Given the description of an element on the screen output the (x, y) to click on. 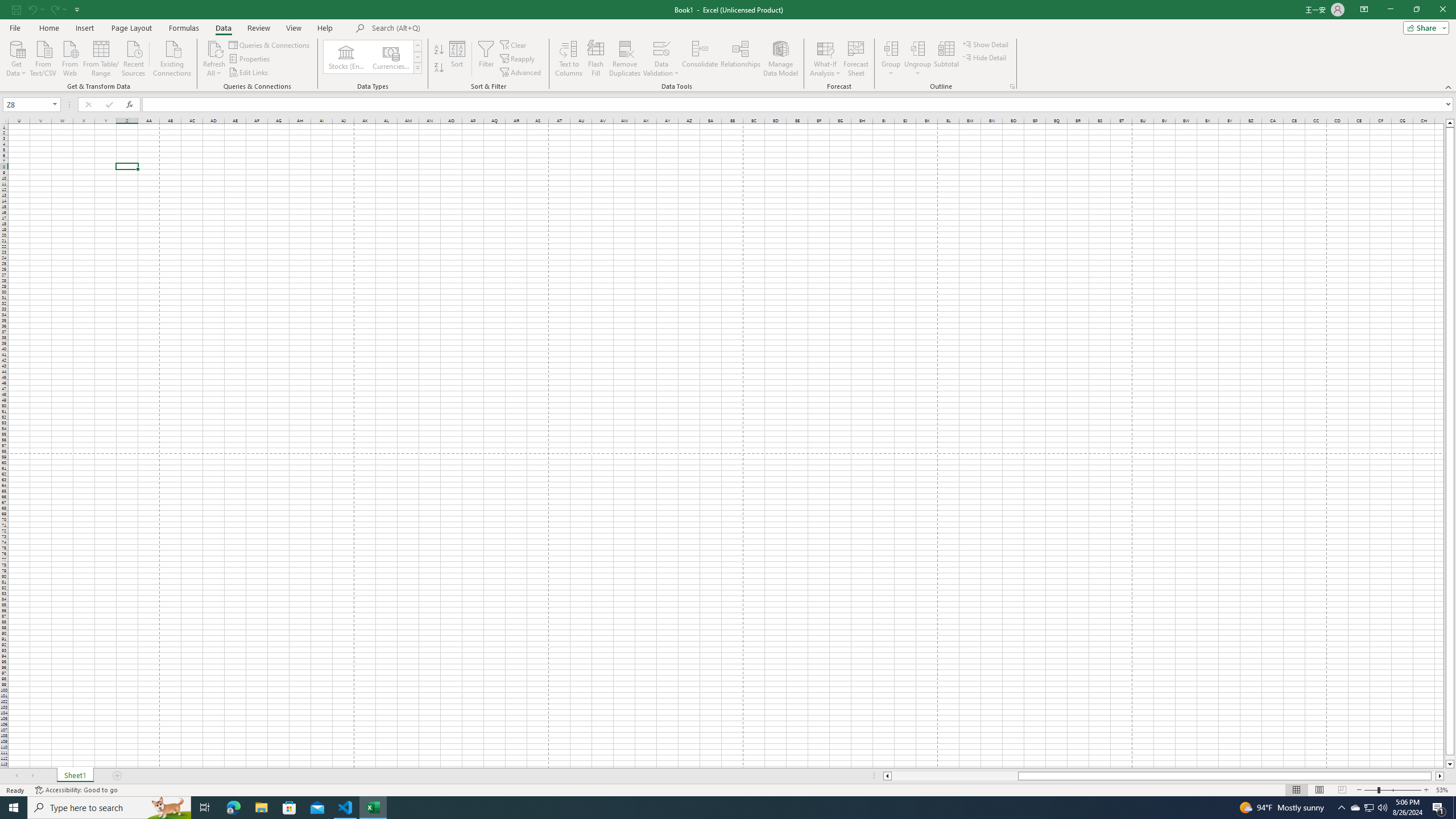
Ungroup... (917, 58)
Share (1423, 27)
Text to Columns... (568, 58)
Redo (53, 9)
Collapse the Ribbon (1448, 86)
Class: NetUIScrollBar (1163, 775)
Sort... (456, 58)
Zoom Out (1370, 790)
Data Validation... (661, 48)
More Options (917, 68)
Insert (83, 28)
Page Layout (1318, 790)
Ribbon Display Options (1364, 9)
Class: NetUIImage (418, 68)
